Given the description of an element on the screen output the (x, y) to click on. 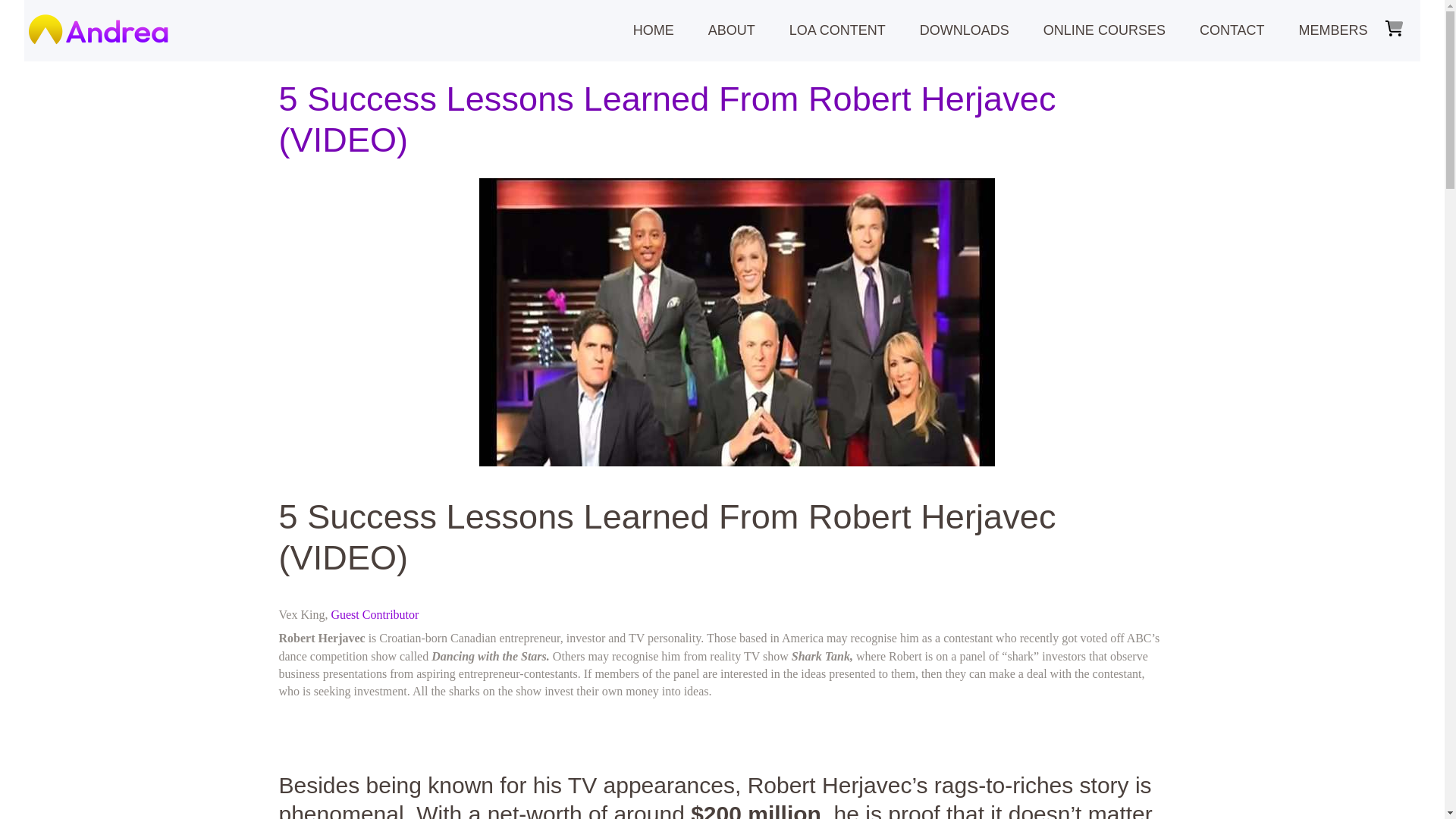
ABOUT (730, 30)
ONLINE COURSES (1104, 30)
LOA CONTENT (836, 30)
bonvitastyle.com (374, 614)
CONTACT (1231, 30)
RYVT Free portal for Law of Attraction Resources (836, 30)
law of attraction downloads at raise your vibration today (964, 30)
DOWNLOADS (964, 30)
MEMBERS (1332, 30)
HOME (652, 30)
